Given the description of an element on the screen output the (x, y) to click on. 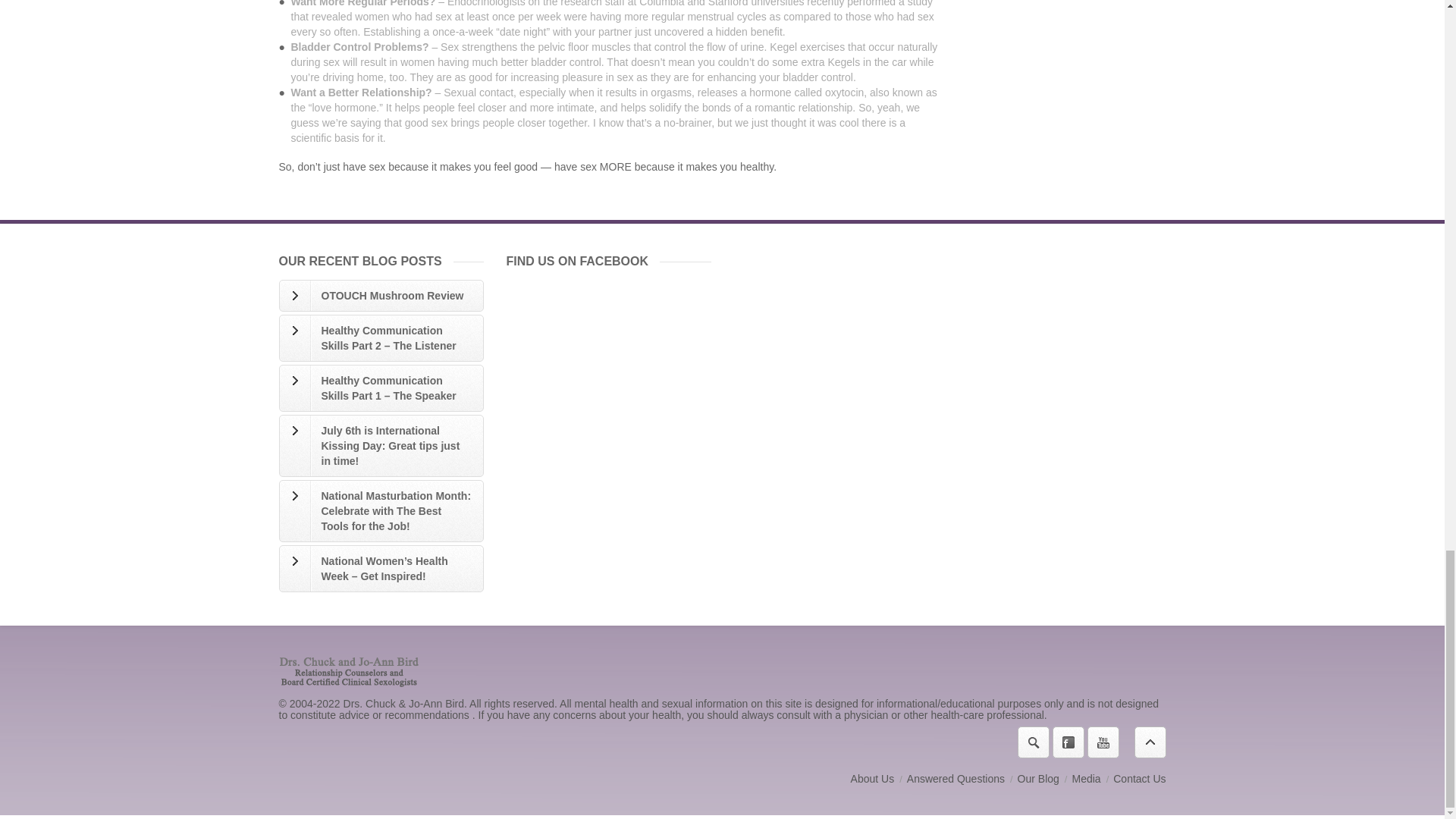
YouTube (1103, 742)
Facebook (1068, 742)
Answered Questions (955, 778)
Our Bios (872, 778)
Impassioned Connections (1038, 778)
OTOUCH Mushroom Review (380, 295)
